Given the description of an element on the screen output the (x, y) to click on. 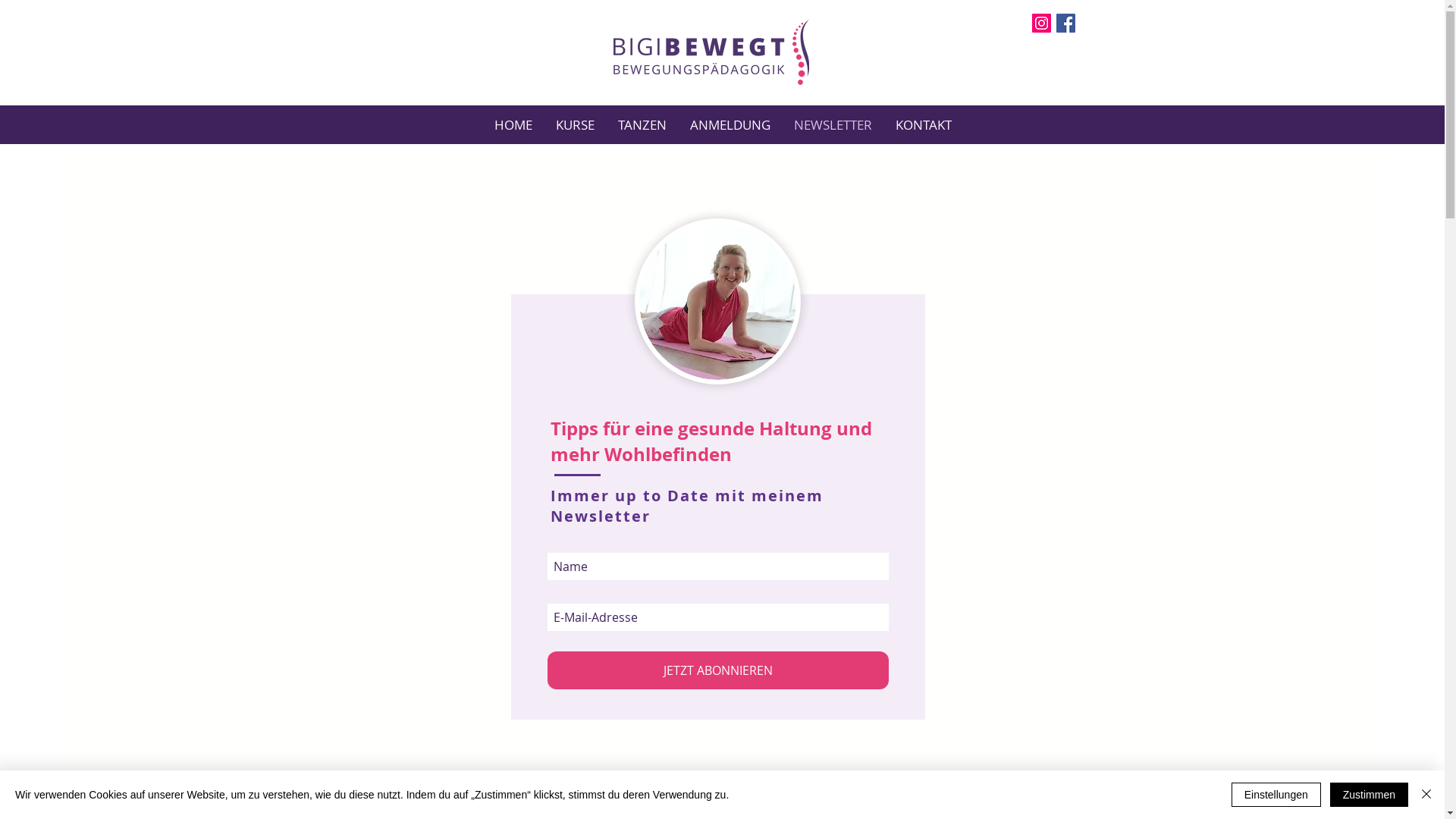
Zustimmen Element type: text (1369, 794)
KURSE Element type: text (573, 124)
NEWSLETTER Element type: text (831, 124)
ANMELDUNG Element type: text (729, 124)
HOME Element type: text (512, 124)
JETZT ABONNIEREN Element type: text (717, 670)
KONTAKT Element type: text (922, 124)
logo-bigi-bewegt-v2.png Element type: hover (710, 51)
TANZEN Element type: text (641, 124)
Einstellungen Element type: text (1276, 794)
